Given the description of an element on the screen output the (x, y) to click on. 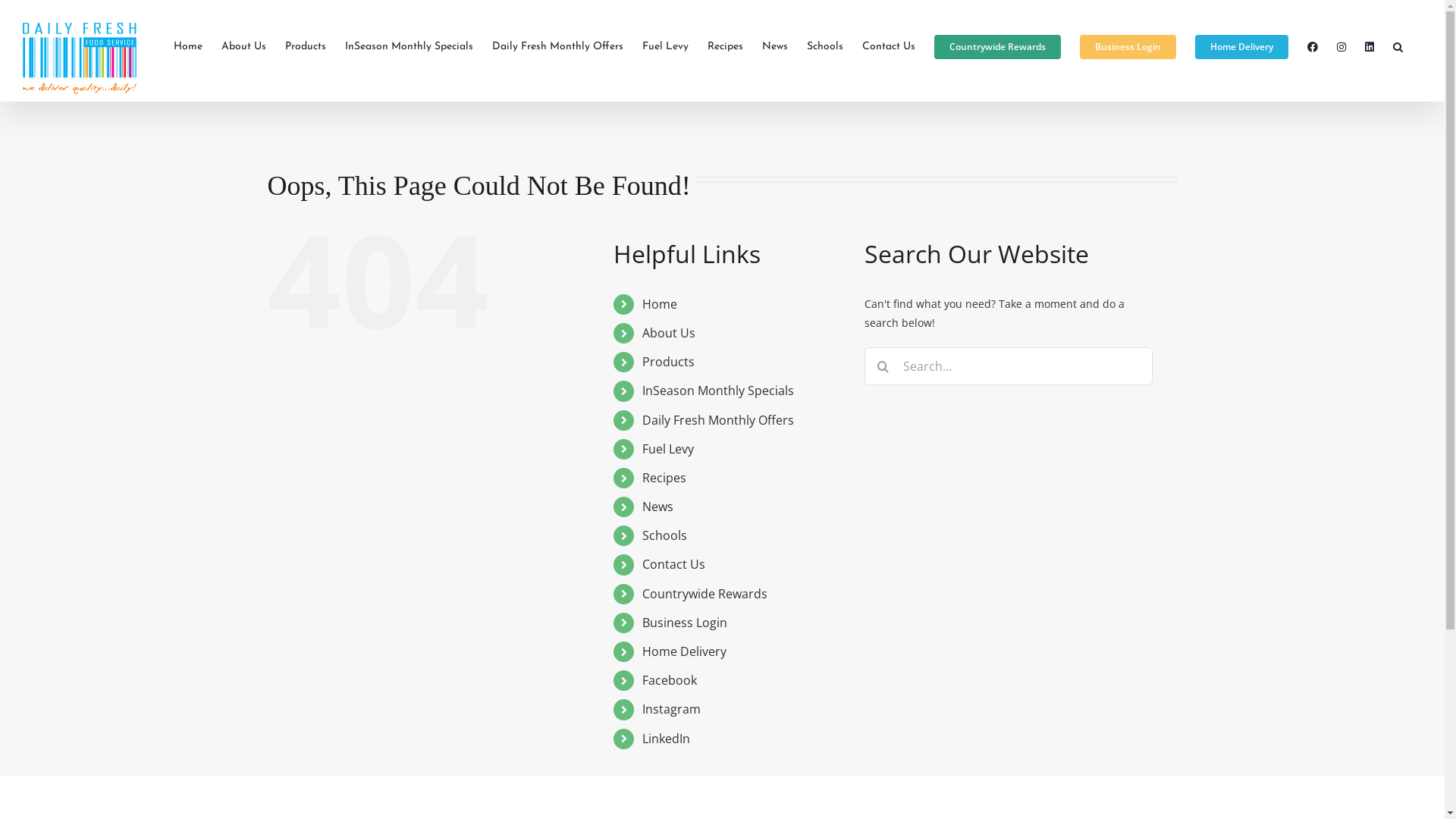
Recipes Element type: text (664, 477)
Business Login Element type: text (1127, 46)
News Element type: text (657, 506)
About Us Element type: text (668, 332)
Schools Element type: text (824, 46)
Facebook Element type: text (669, 679)
Products Element type: text (305, 46)
News Element type: text (774, 46)
About Us Element type: text (243, 46)
Countrywide Rewards Element type: text (997, 46)
Daily Fresh Monthly Offers Element type: text (717, 419)
Fuel Levy Element type: text (667, 448)
Contact Us Element type: text (673, 563)
Home Element type: text (187, 46)
InSeason Monthly Specials Element type: text (409, 46)
Home Element type: text (659, 303)
Products Element type: text (668, 361)
Business Login Element type: text (684, 622)
Instagram Element type: text (671, 708)
Contact Us Element type: text (888, 46)
Search Element type: hover (1397, 46)
Home Delivery Element type: text (1241, 46)
Daily Fresh Monthly Offers Element type: text (557, 46)
Home Delivery Element type: text (684, 651)
Countrywide Rewards Element type: text (704, 593)
Schools Element type: text (664, 535)
Recipes Element type: text (725, 46)
InSeason Monthly Specials Element type: text (717, 390)
Fuel Levy Element type: text (665, 46)
LinkedIn Element type: text (666, 738)
